Given the description of an element on the screen output the (x, y) to click on. 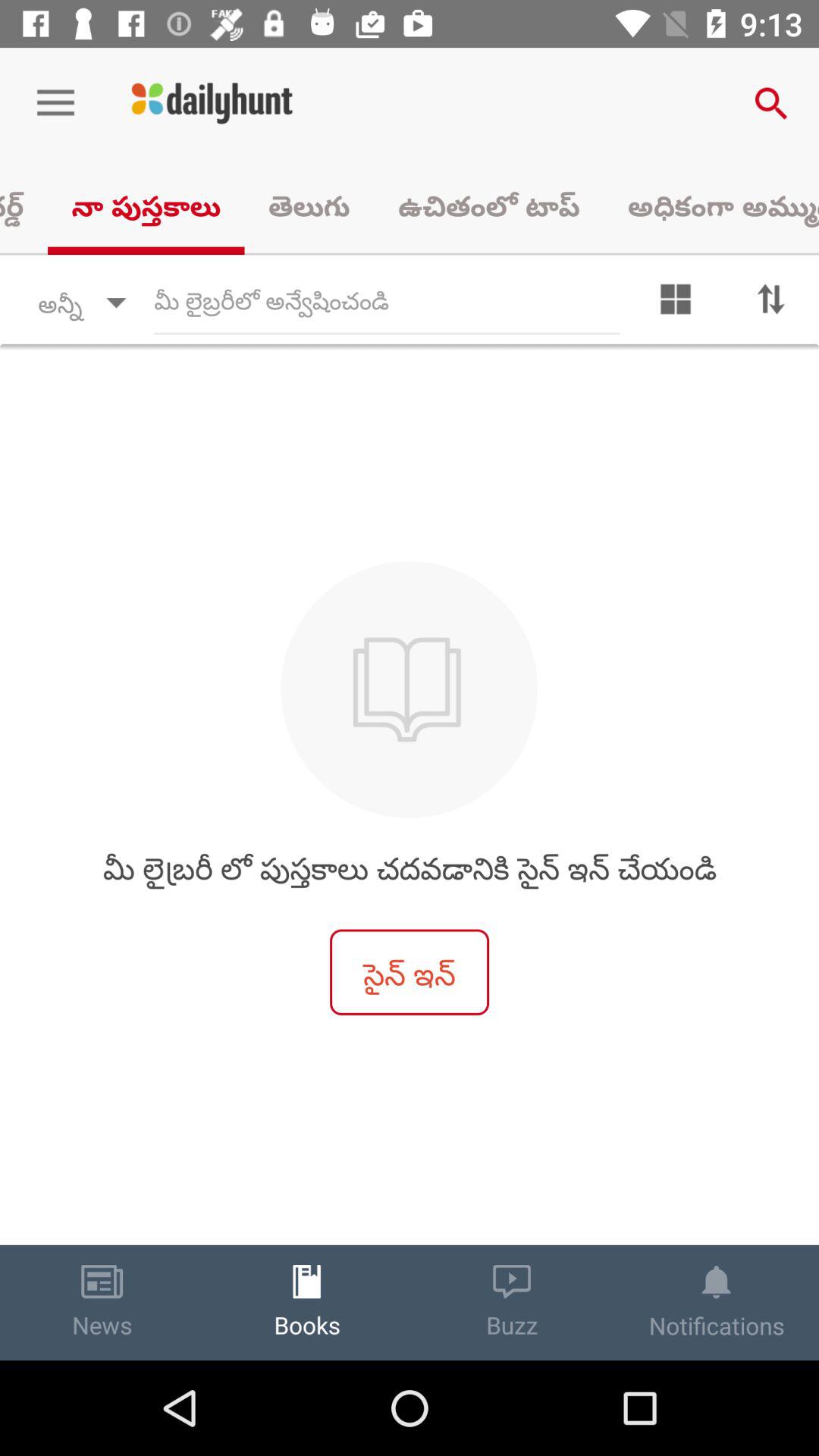
change exhibition pattern (675, 302)
